Given the description of an element on the screen output the (x, y) to click on. 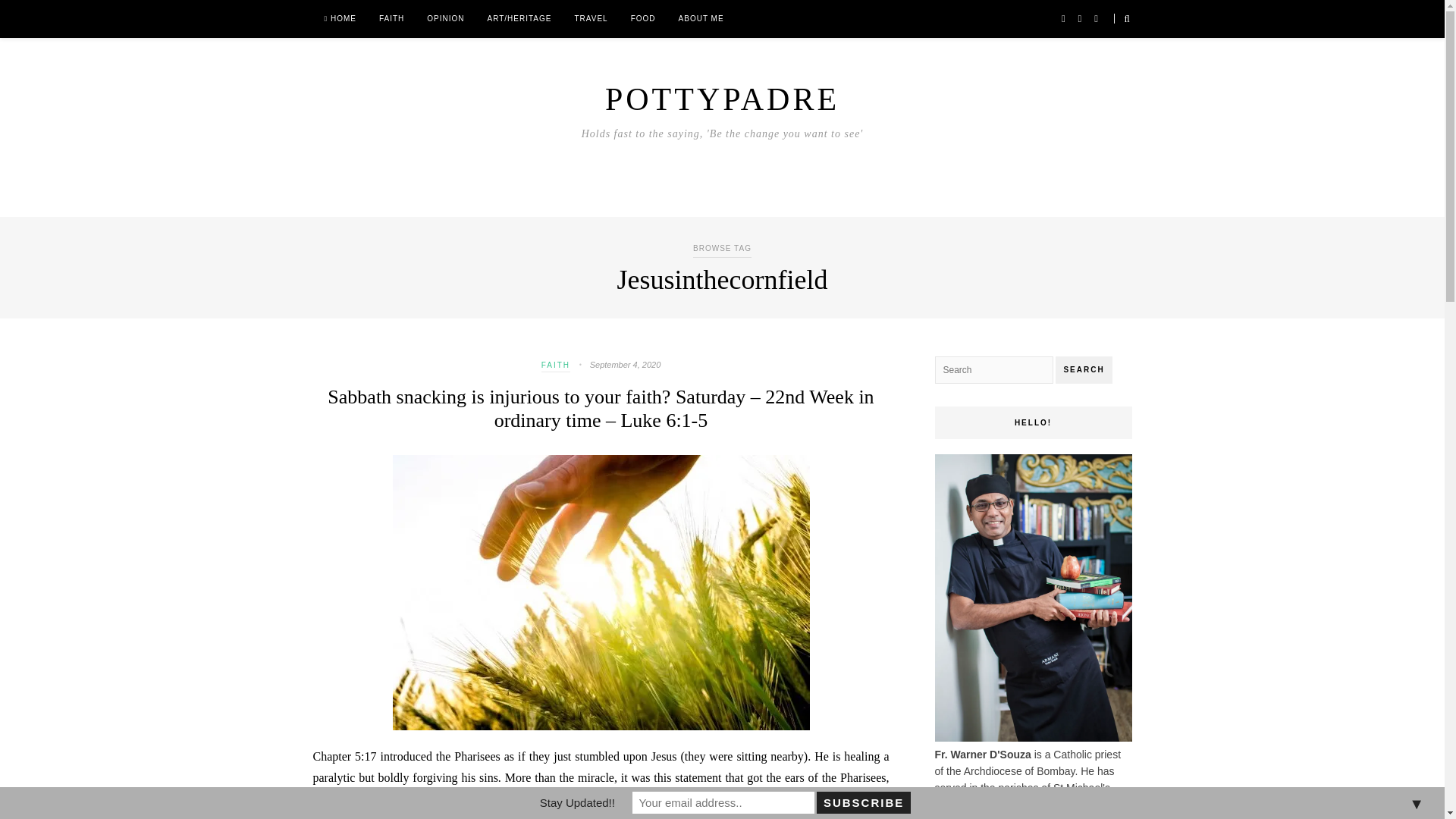
FOOD (643, 18)
FAITH (555, 366)
Subscribe (863, 802)
FAITH (391, 18)
TRAVEL (590, 18)
POTTYPADRE (722, 99)
OPINION (445, 18)
SEARCH (1083, 370)
HOME (339, 18)
ABOUT ME (700, 18)
